Given the description of an element on the screen output the (x, y) to click on. 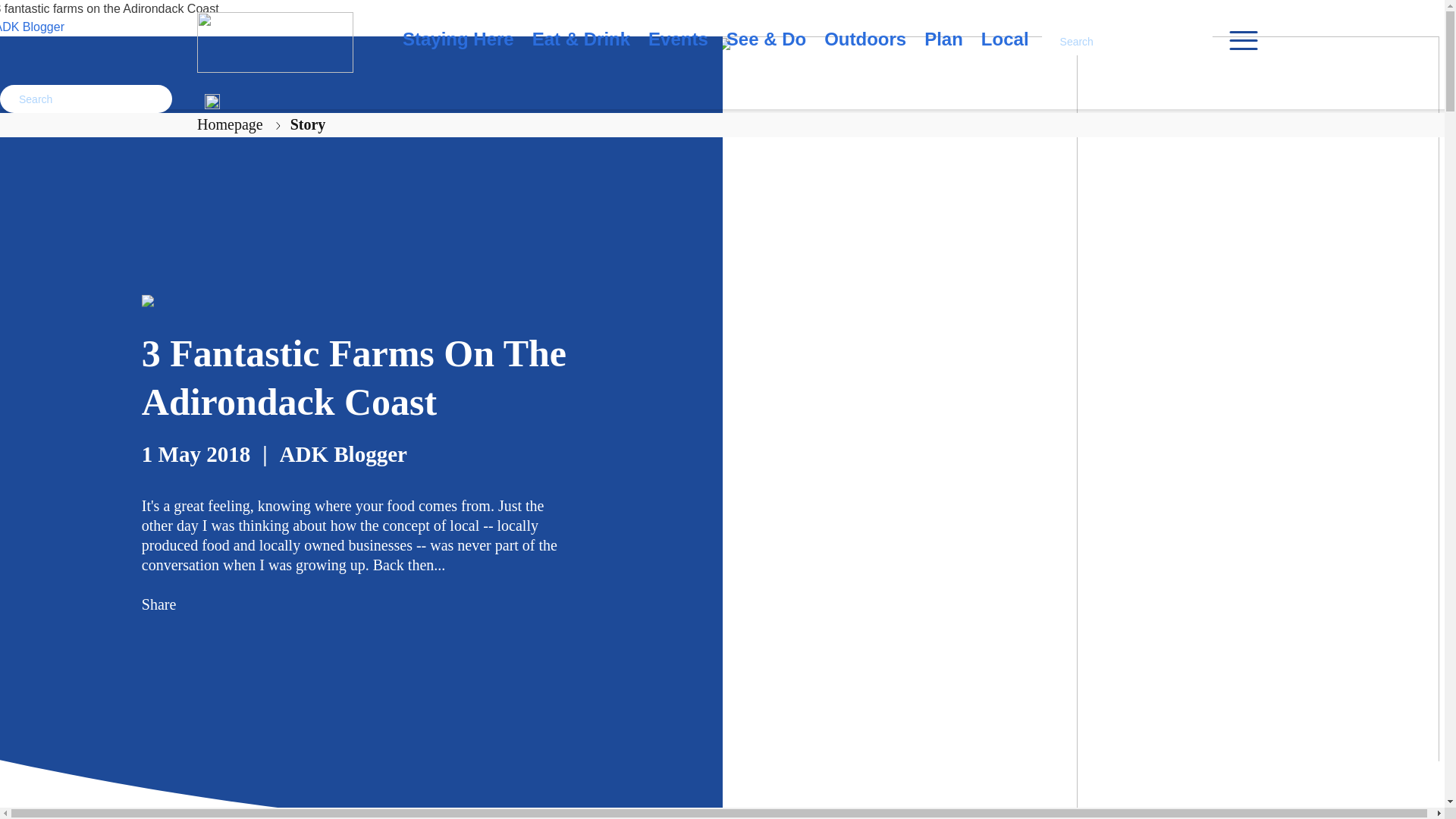
Events (677, 42)
Enter the terms you wish to search for. (85, 99)
Enter the terms you wish to search for. (1126, 41)
Staying Here (458, 42)
Outdoors (864, 42)
